Given the description of an element on the screen output the (x, y) to click on. 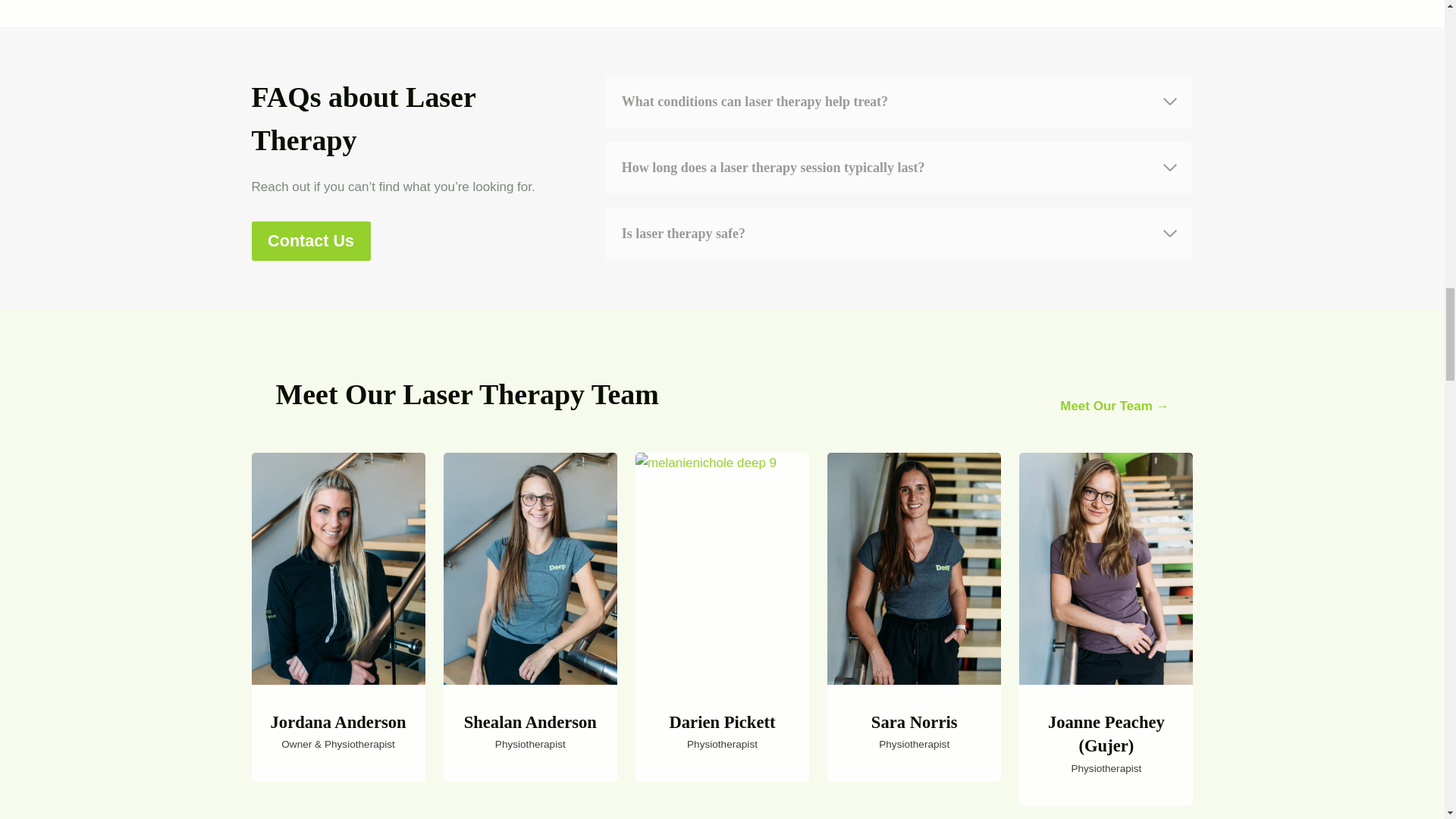
Contact Us (311, 241)
How long does a laser therapy session typically last? (898, 167)
What conditions can laser therapy help treat? (898, 101)
